Given the description of an element on the screen output the (x, y) to click on. 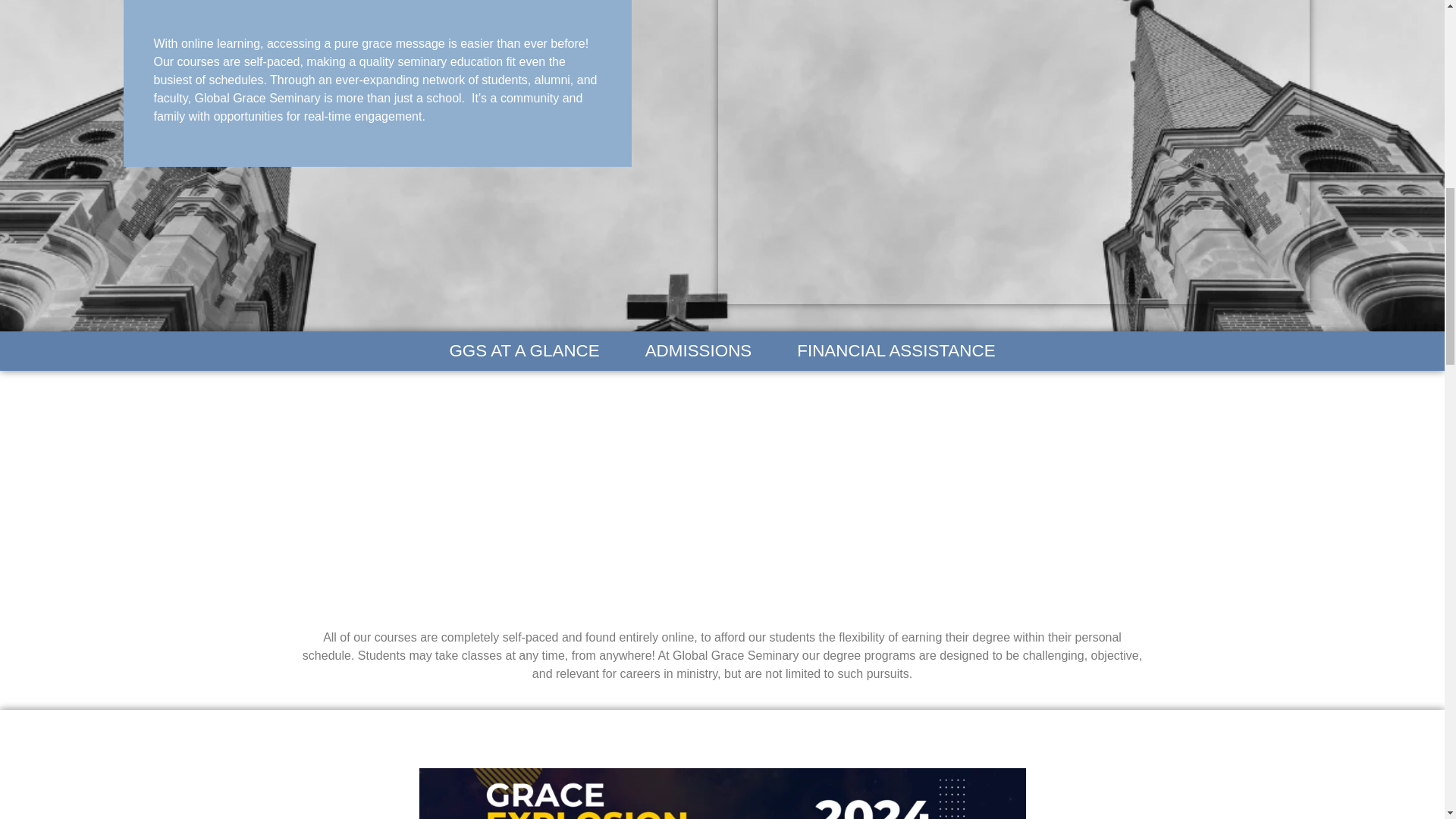
GGS AT A GLANCE (523, 351)
ADMISSIONS (698, 351)
FINANCIAL ASSISTANCE (895, 351)
